Given the description of an element on the screen output the (x, y) to click on. 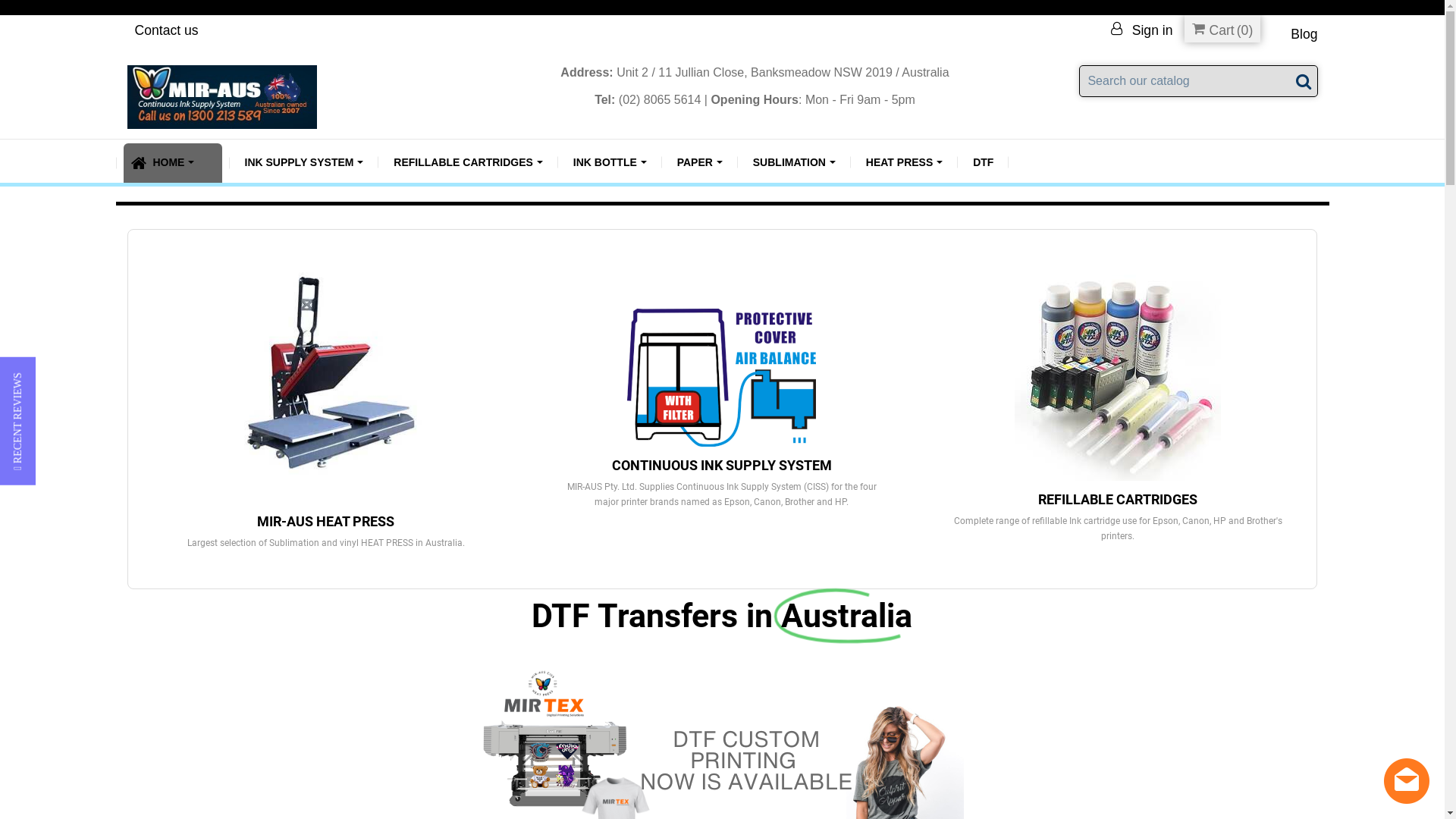
CONTINUOUS INK SUPPLY SYSTEM Element type: text (721, 465)
INK BOTTLE Element type: text (609, 162)
DTF Transfers in Australia Element type: text (721, 616)
MIR-AUS HEAT PRESS Element type: text (325, 521)
INK SUPPLY SYSTEM Element type: text (303, 162)
Live chat offline Element type: hover (1406, 780)
PAPER Element type: text (699, 162)
HEAT PRESS Element type: text (904, 162)
Contact us Element type: text (166, 29)
SUBLIMATION Element type: text (794, 162)
DTF Element type: text (983, 162)
HOME Element type: text (171, 162)
Sign in Element type: text (1141, 29)
REFILLABLE CARTRIDGES Element type: text (1117, 499)
REFILLABLE CARTRIDGES Element type: text (467, 162)
Blog Element type: text (1303, 33)
